Given the description of an element on the screen output the (x, y) to click on. 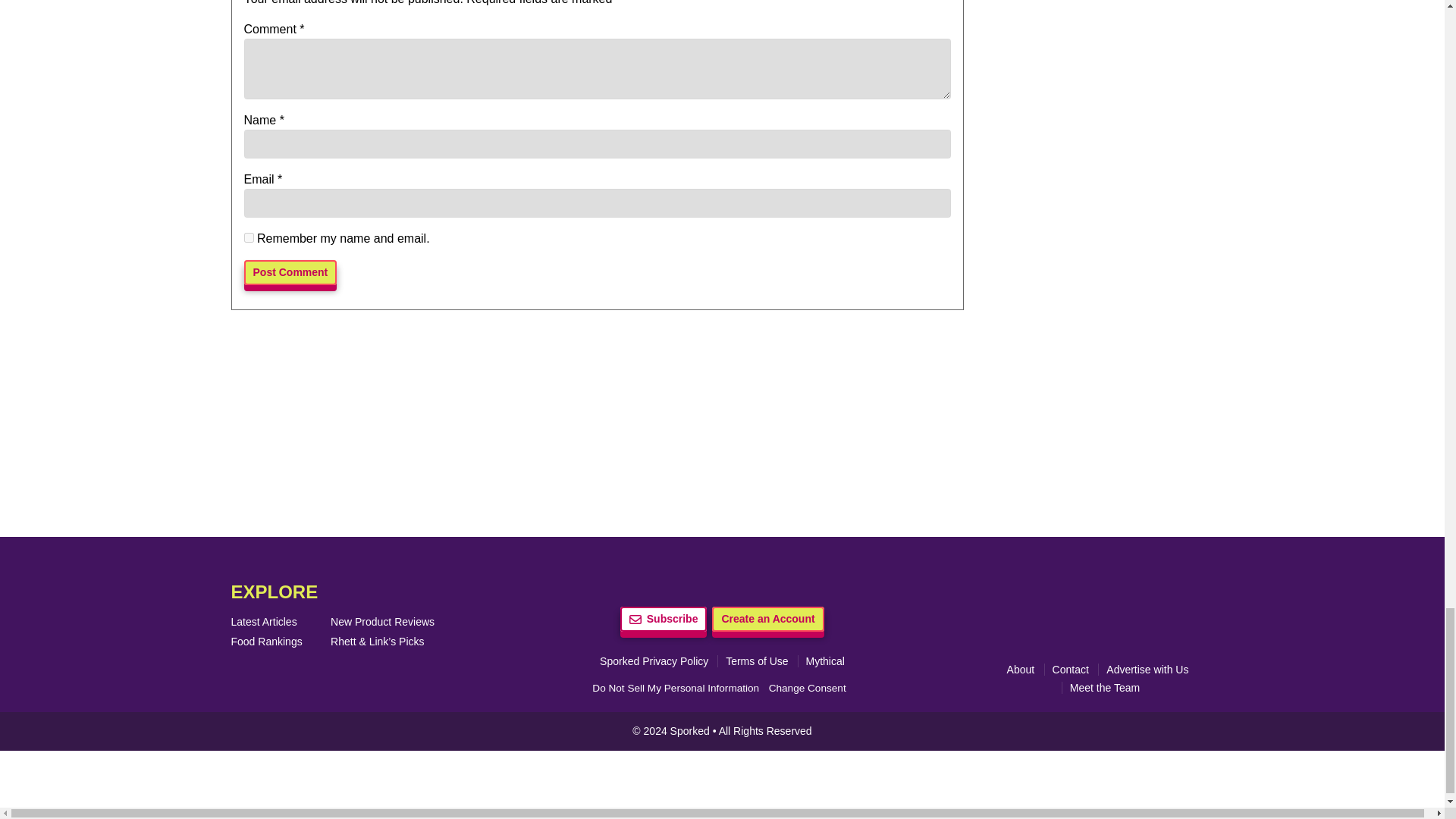
yes (248, 237)
Sporked (691, 730)
Post Comment (290, 272)
